Given the description of an element on the screen output the (x, y) to click on. 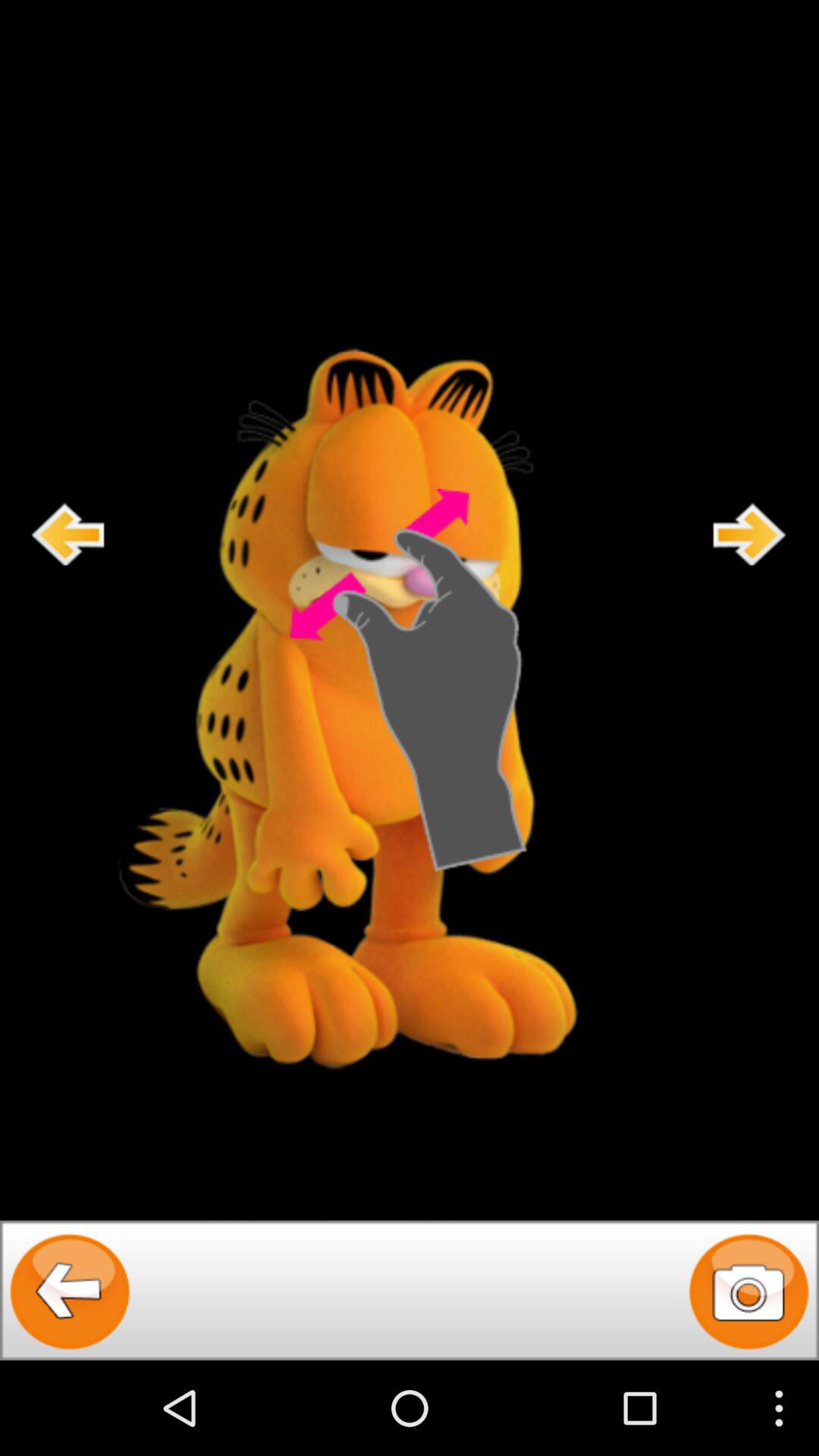
take a picture (748, 1290)
